Given the description of an element on the screen output the (x, y) to click on. 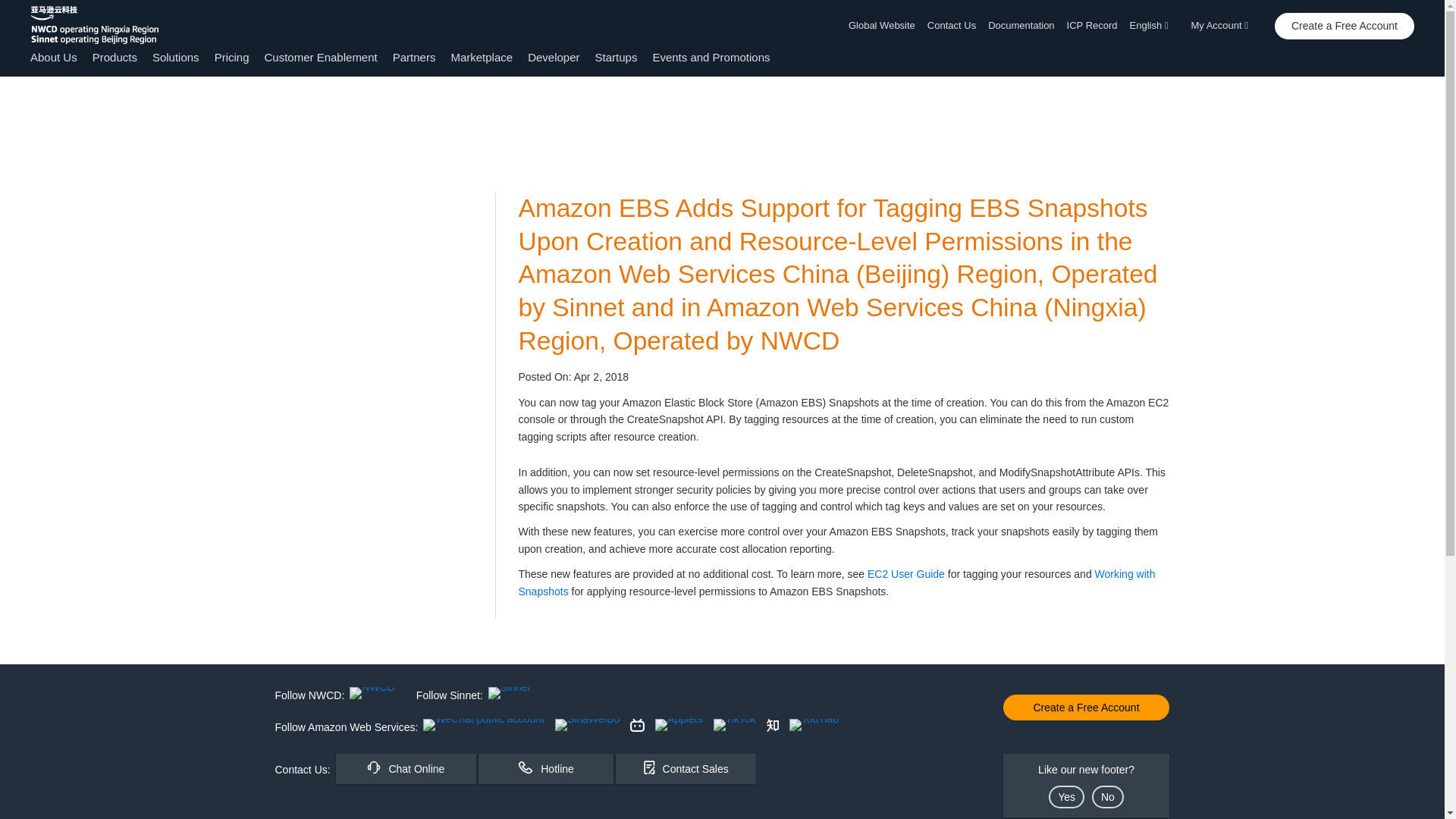
Documentation (1020, 26)
Pricing (231, 56)
Contact Us (951, 26)
NWCD (371, 693)
Applets (679, 725)
Global Website (884, 26)
About Us (53, 56)
WeChat public account (483, 725)
TouTiao (813, 725)
Bilibili (637, 725)
TikTok (734, 725)
English  (1154, 26)
Customer Enablement (320, 56)
Events and Promotions (711, 56)
Solutions (175, 56)
